Given the description of an element on the screen output the (x, y) to click on. 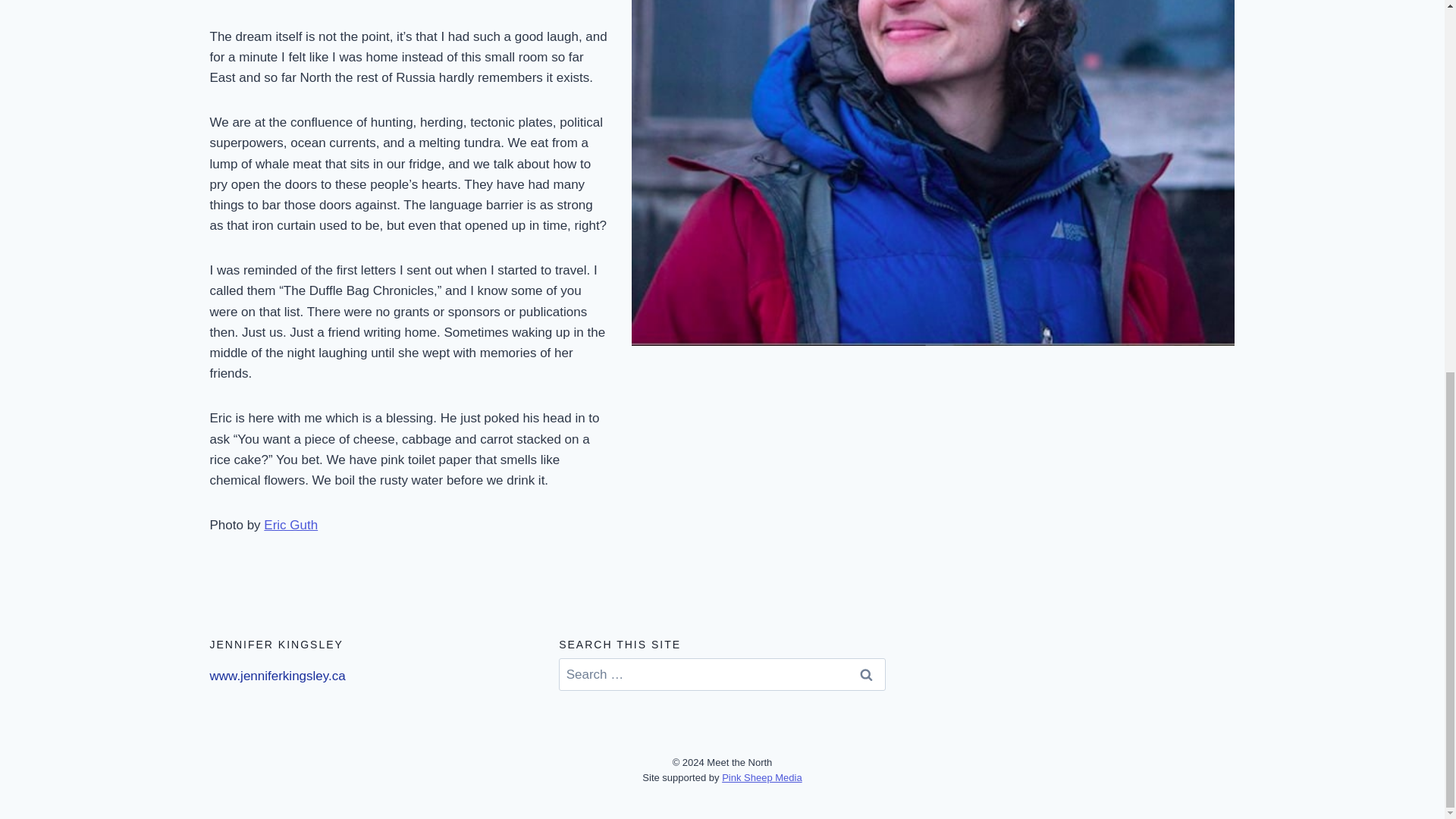
Eric Guth (290, 524)
www.jenniferkingsley.ca (277, 676)
Pink Sheep Media (762, 777)
Search (866, 674)
Search (866, 674)
Search (866, 674)
